Given the description of an element on the screen output the (x, y) to click on. 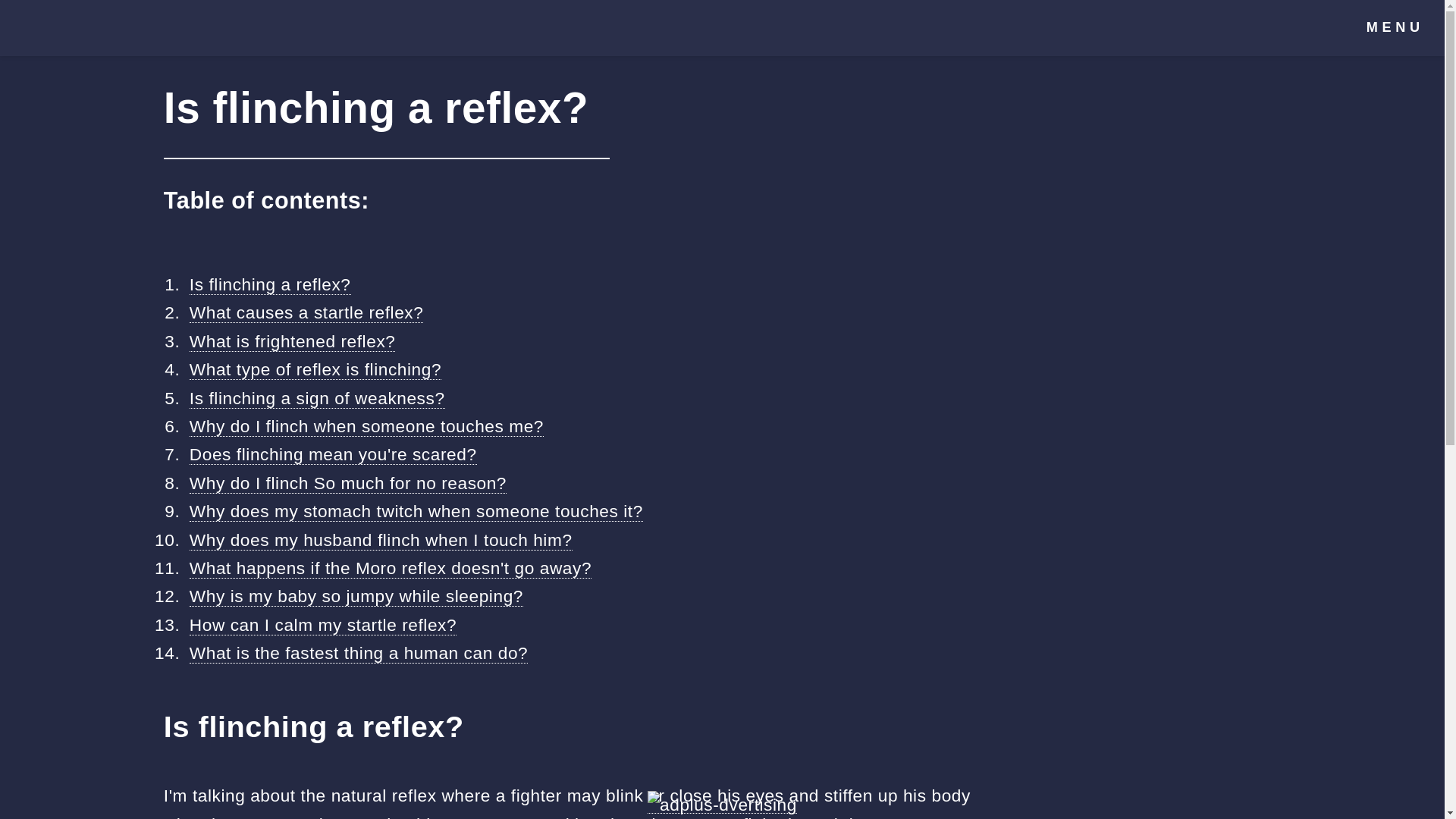
Why do I flinch So much for no reason? (347, 483)
Why is my baby so jumpy while sleeping? (355, 596)
What type of reflex is flinching? (315, 369)
What happens if the Moro reflex doesn't go away? (390, 567)
Why do I flinch when someone touches me? (366, 426)
Why does my husband flinch when I touch him? (380, 539)
Why does my stomach twitch when someone touches it? (416, 511)
Is flinching a reflex? (269, 284)
How can I calm my startle reflex? (323, 625)
Is flinching a sign of weakness? (317, 398)
